Given the description of an element on the screen output the (x, y) to click on. 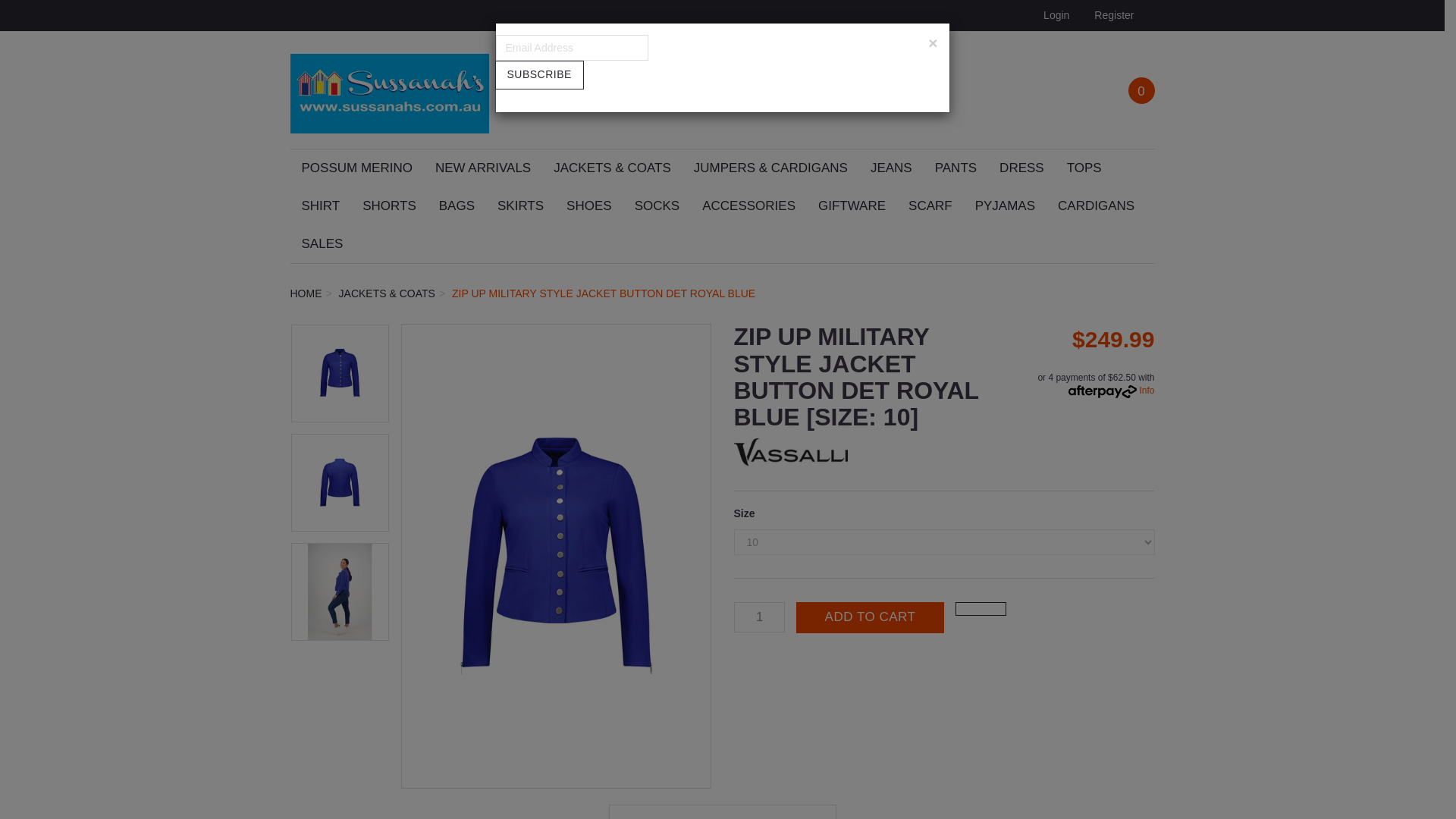
0 (1141, 90)
Add to Cart (869, 617)
Large View (339, 591)
Login (1054, 15)
Subscribe (539, 74)
Large View (339, 482)
Login (1054, 15)
Vassalli (790, 451)
Sussanahs (389, 88)
Register (1112, 15)
1 (759, 616)
Register (1112, 15)
